Given the description of an element on the screen output the (x, y) to click on. 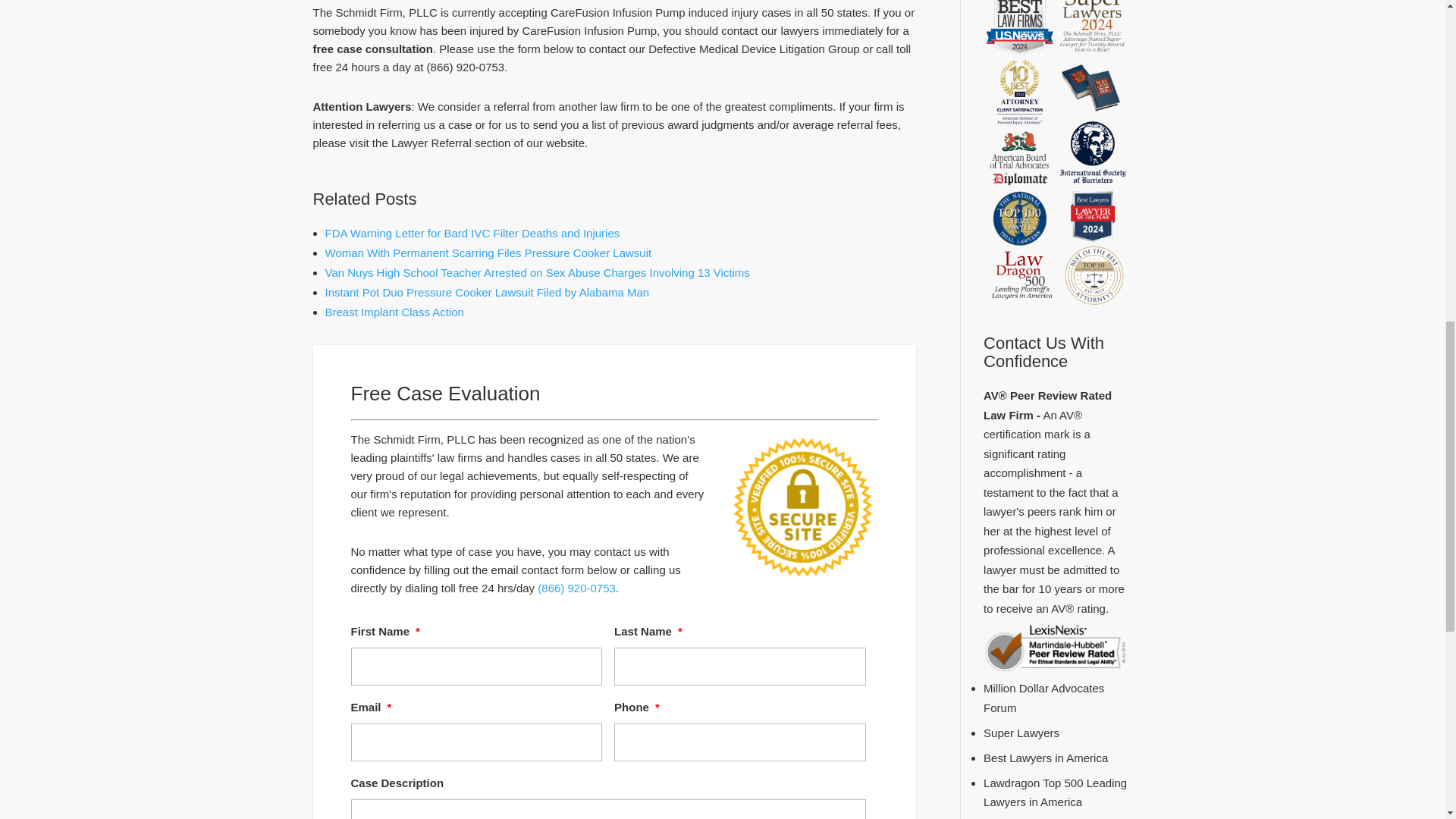
Instant Pot Duo Pressure Cooker Lawsuit Filed by Alabama Man (486, 291)
FDA Warning Letter for Bard IVC Filter Deaths and Injuries (472, 232)
Woman With Permanent Scarring Files Pressure Cooker Lawsuit (487, 252)
Breast Implant Class Action (393, 311)
